Given the description of an element on the screen output the (x, y) to click on. 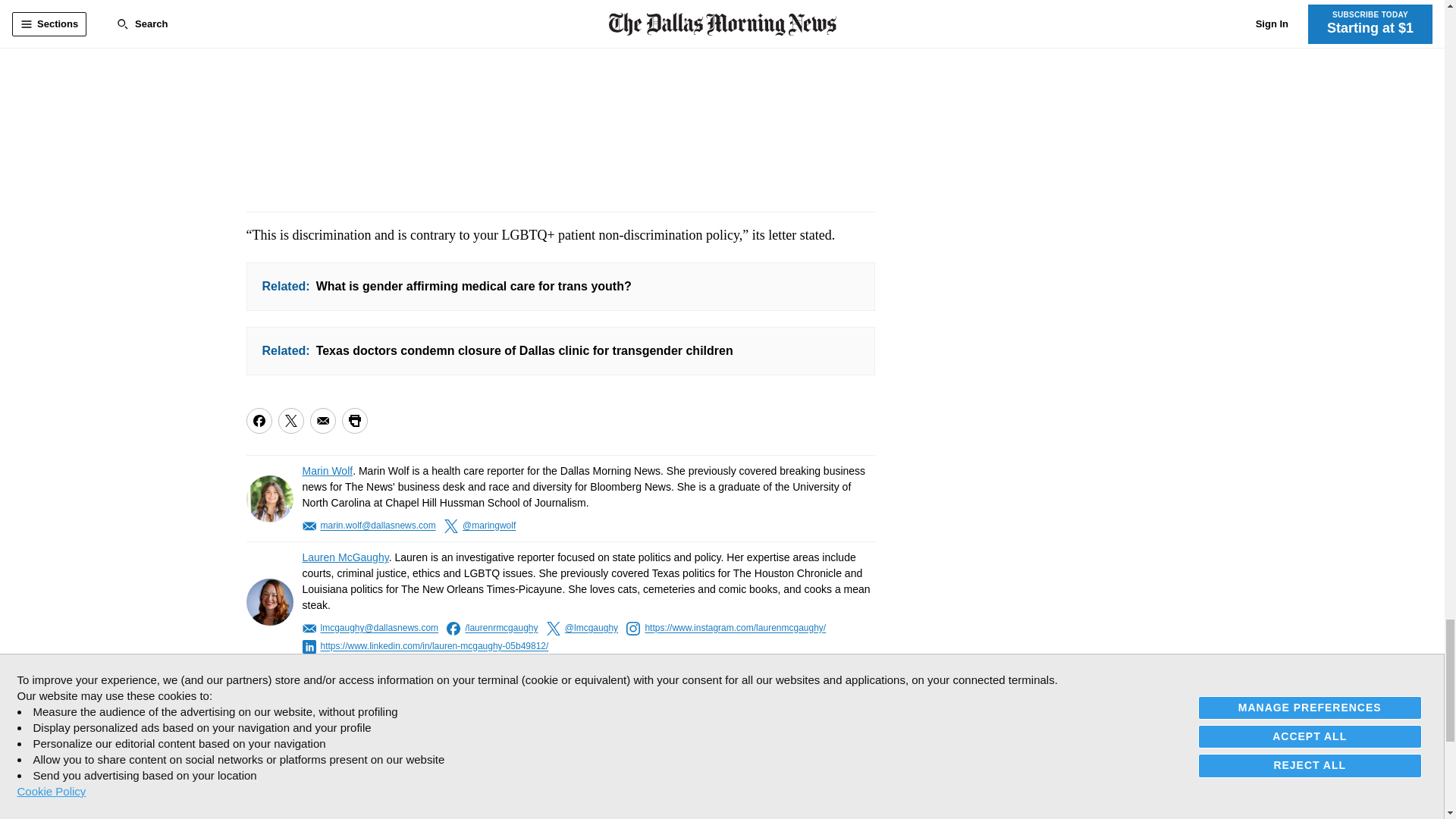
Share on Facebook (258, 420)
Share on Twitter (290, 420)
Share via Email (321, 420)
Print (353, 420)
